Given the description of an element on the screen output the (x, y) to click on. 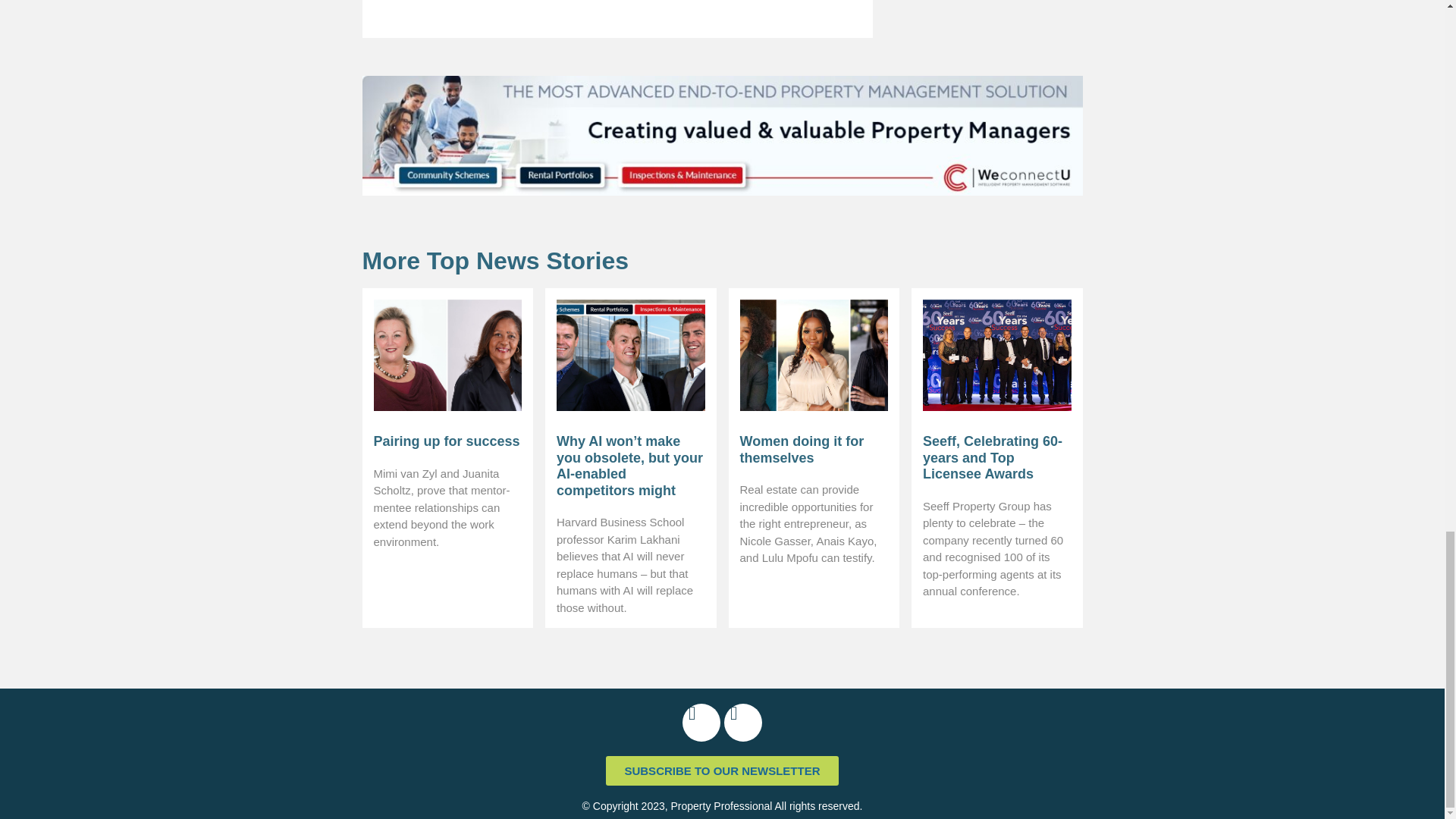
SUBSCRIBE TO OUR NEWSLETTER (721, 770)
Seeff, Celebrating 60-years and Top Licensee Awards (992, 457)
Women doing it for themselves (801, 450)
Pairing up for success (445, 441)
